Given the description of an element on the screen output the (x, y) to click on. 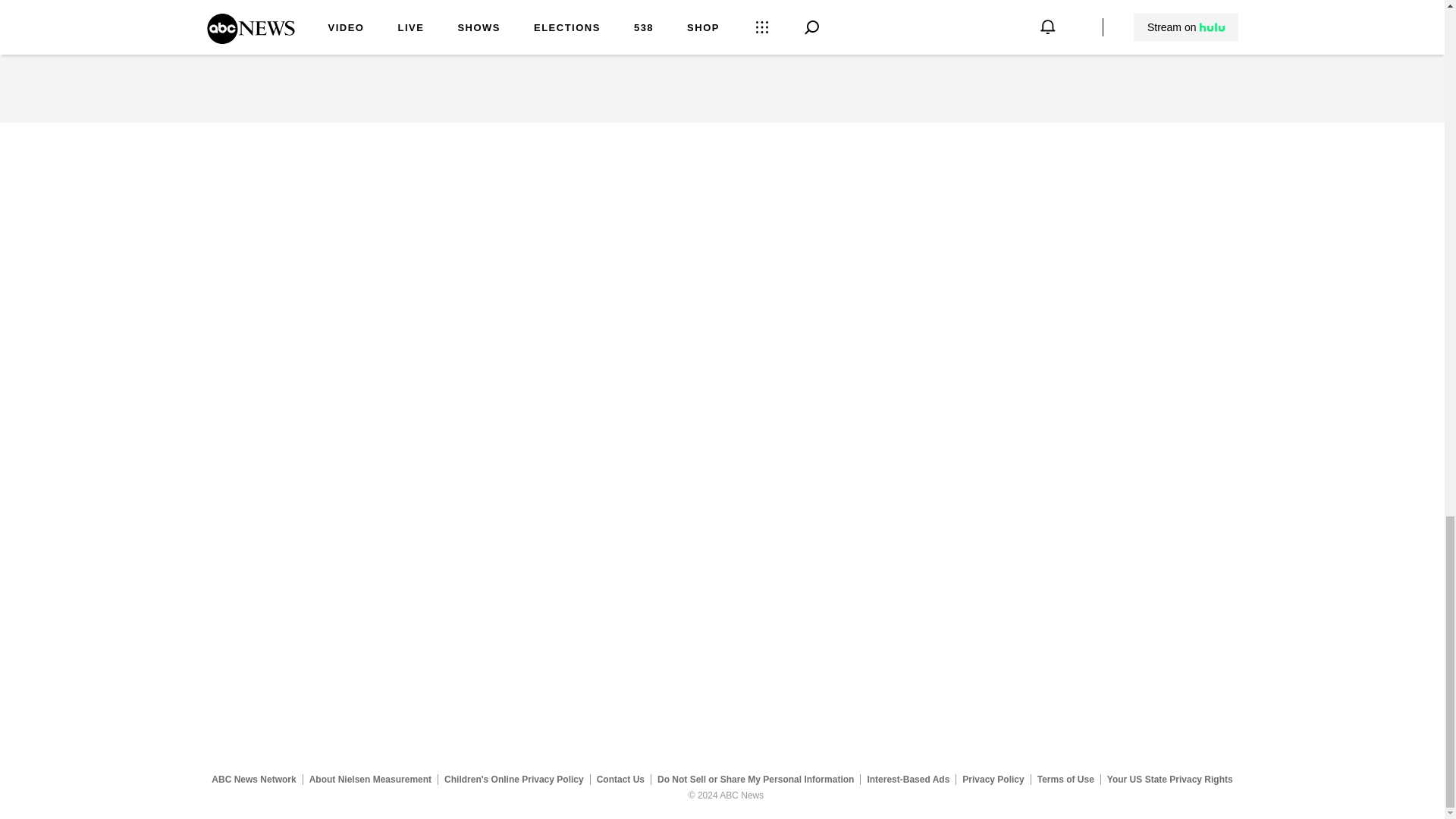
Your US State Privacy Rights (1169, 778)
Terms of Use (1065, 778)
Interest-Based Ads (908, 778)
ABC News Network (253, 778)
Do Not Sell or Share My Personal Information (755, 778)
Children's Online Privacy Policy (514, 778)
Privacy Policy (993, 778)
About Nielsen Measurement (370, 778)
Contact Us (620, 778)
